Given the description of an element on the screen output the (x, y) to click on. 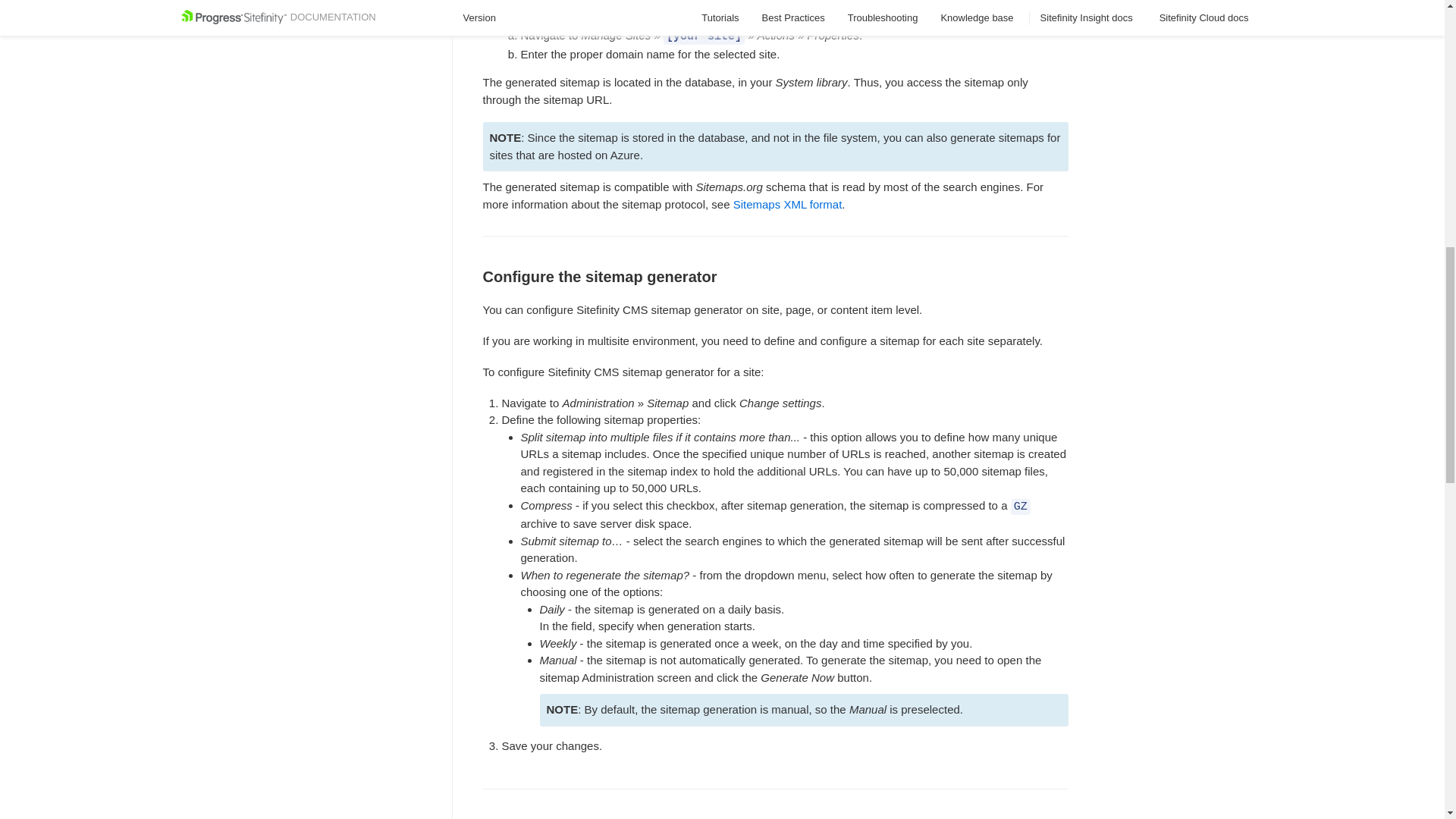
Configure the sitemap generator (774, 232)
Sitemaps XML format (788, 204)
